Given the description of an element on the screen output the (x, y) to click on. 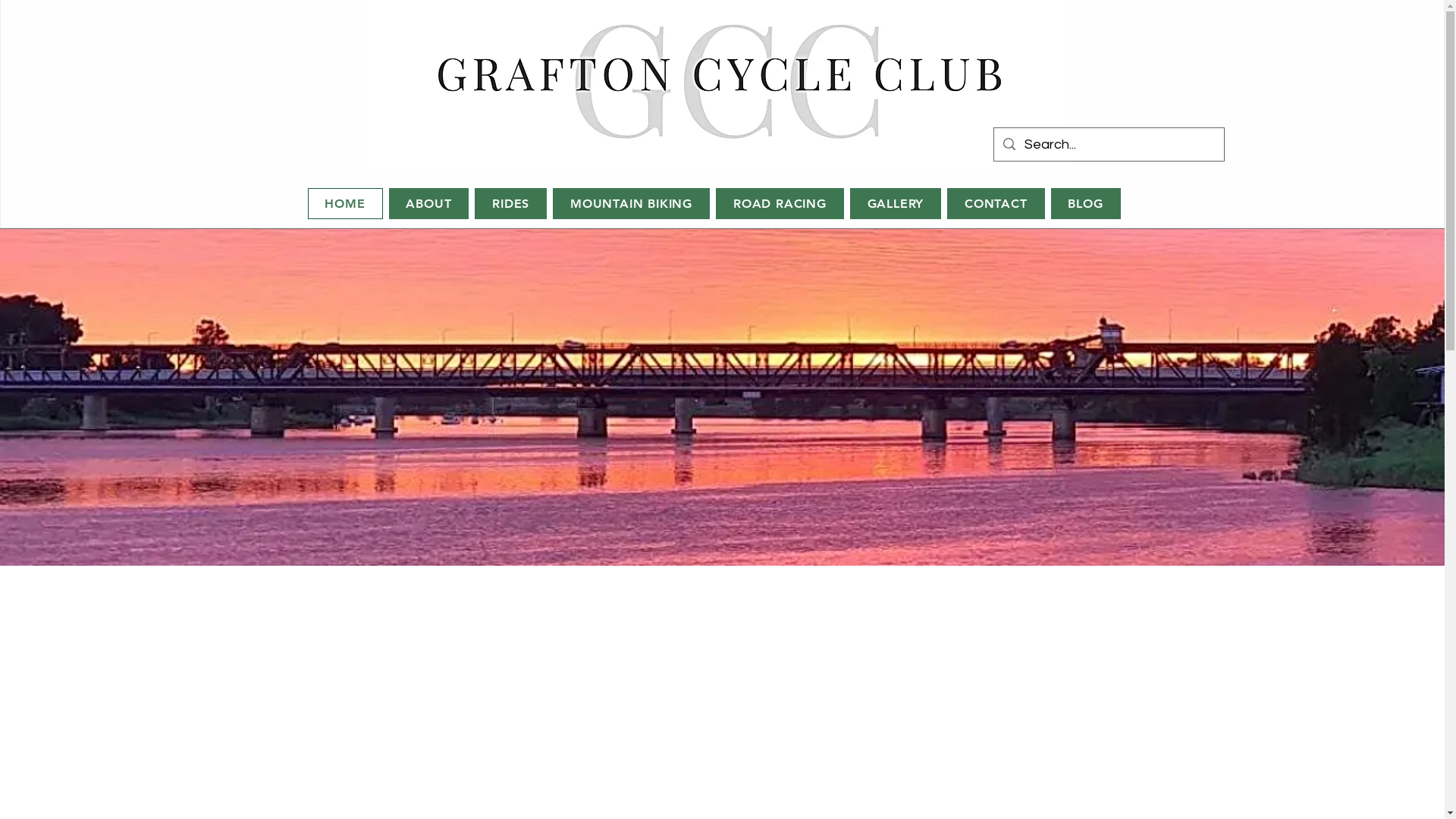
ABOUT Element type: text (429, 203)
CONTACT Element type: text (995, 203)
HOME Element type: text (344, 203)
RIDES Element type: text (510, 203)
1670371976091.jpg Element type: hover (715, 87)
ROAD RACING Element type: text (779, 203)
BLOG Element type: text (1085, 203)
GALLERY Element type: text (895, 203)
MOUNTAIN BIKING Element type: text (630, 203)
